Given the description of an element on the screen output the (x, y) to click on. 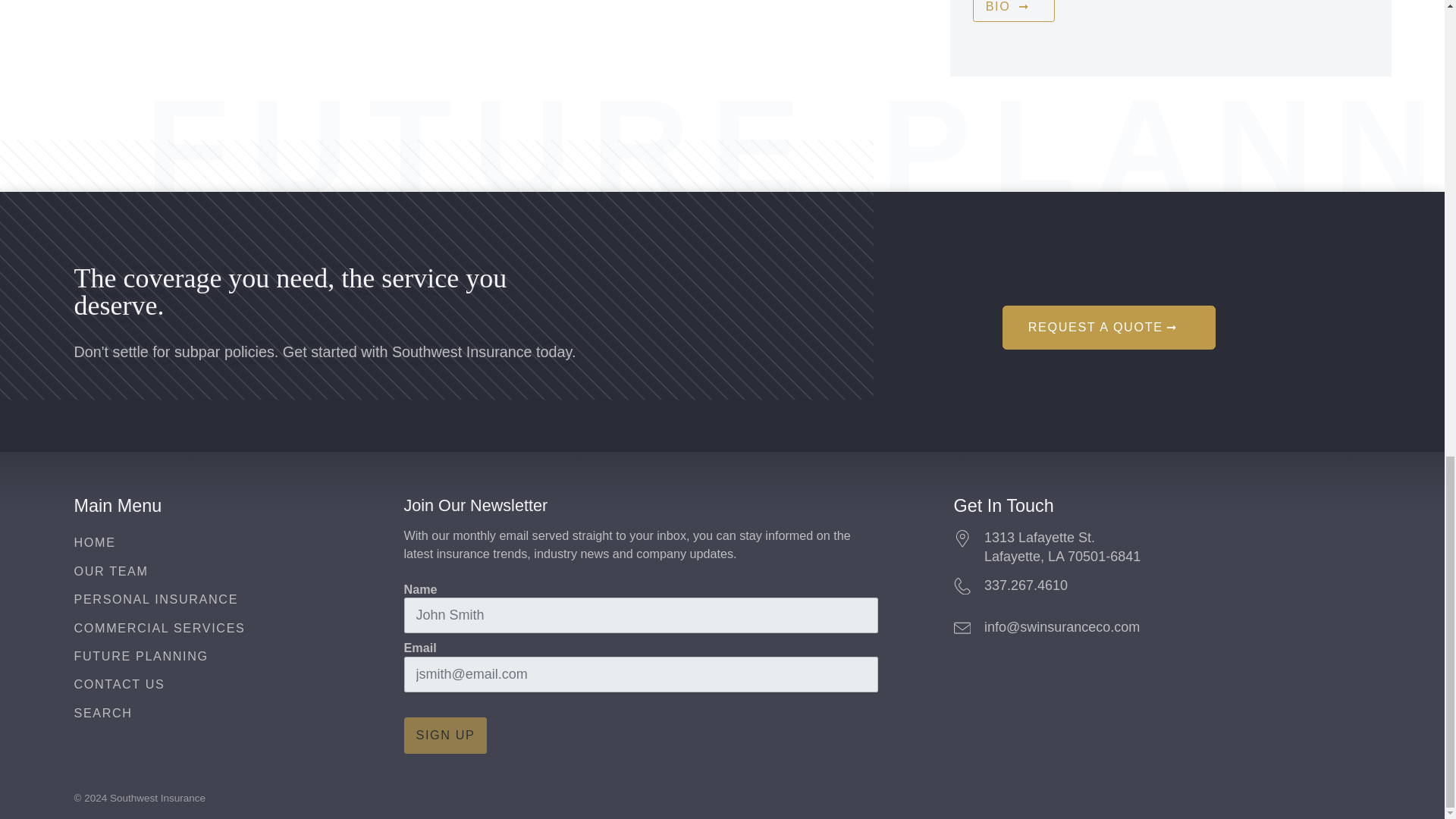
PERSONAL INSURANCE (156, 599)
Sign Up (444, 735)
CONTACT US (119, 684)
COMMERCIAL SERVICES (160, 627)
SEARCH (103, 712)
OUR TEAM (111, 571)
Sign Up (444, 735)
HOME (1162, 547)
REQUEST A QUOTE (95, 541)
FUTURE PLANNING (1108, 326)
BIO (141, 655)
